Given the description of an element on the screen output the (x, y) to click on. 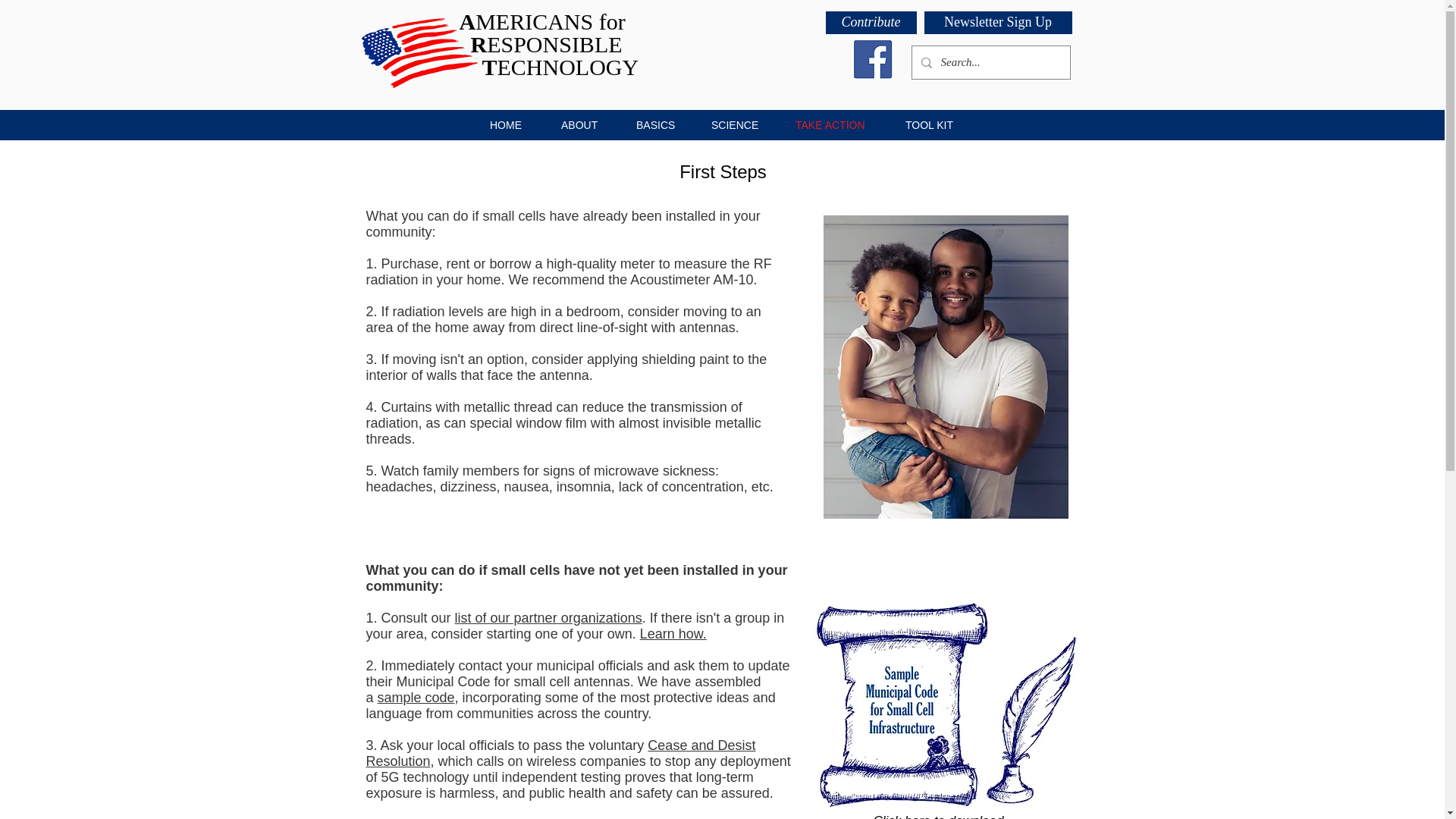
Newsletter Sign Up (997, 22)
HOME (505, 124)
Cease and Desist Resolution (560, 753)
BASICS (655, 124)
SCIENCE (734, 124)
AMERICANS  (529, 21)
Contribute (870, 22)
list of our partner organizations (548, 617)
TAKE ACTION (831, 124)
sample code (415, 697)
Learn how. (673, 633)
TOOL KIT (930, 124)
social media (647, 818)
Click here to download (938, 816)
ABOUT (579, 124)
